Given the description of an element on the screen output the (x, y) to click on. 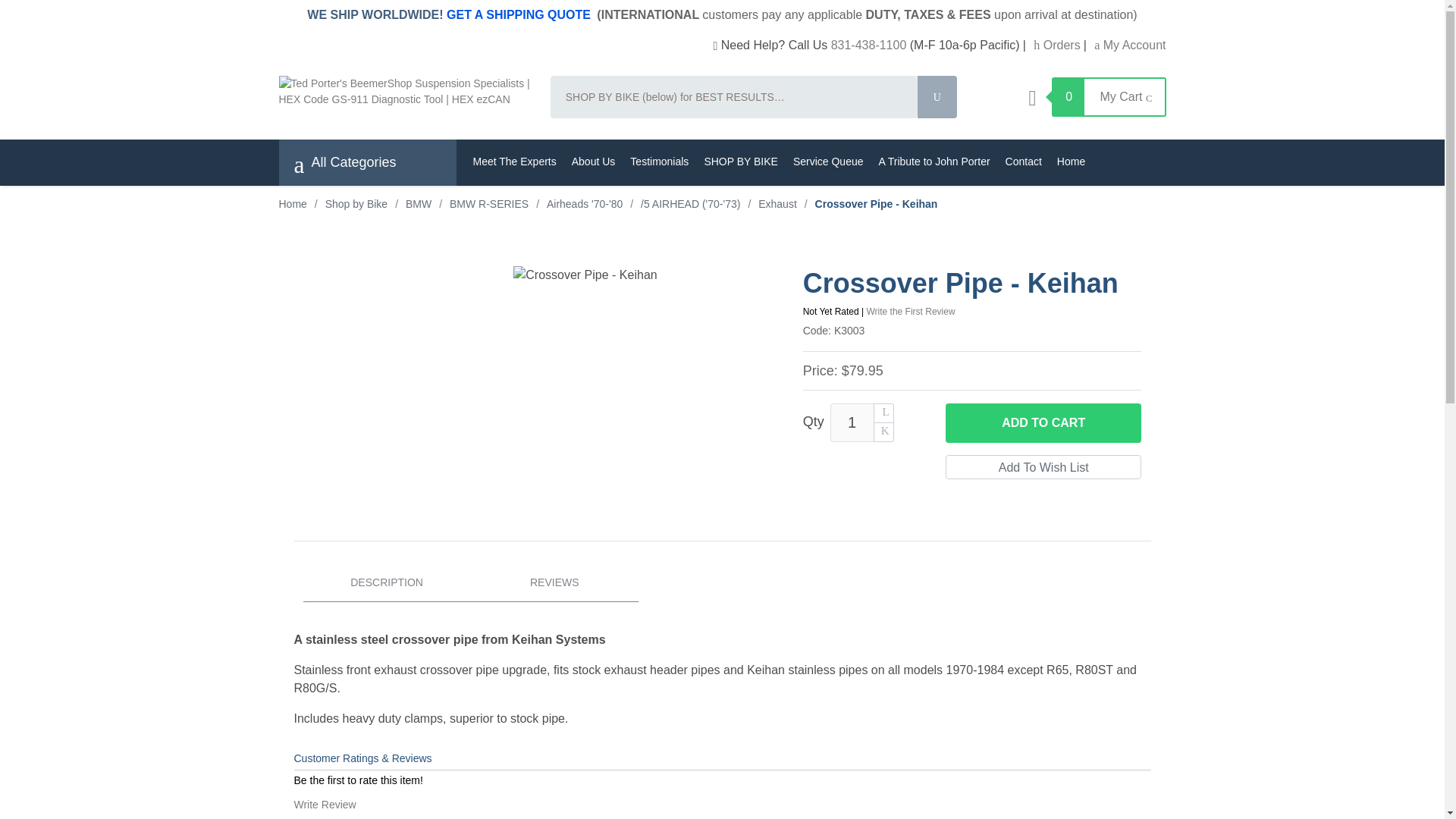
BMW R-SERIES (488, 203)
Service Queue (828, 162)
Add To Wish List (1042, 467)
Orders (1056, 44)
831-438-1100 (869, 44)
All Categories (345, 162)
Search (936, 96)
GET A SHIPPING QUOTE (518, 14)
A Tribute to John Porter (933, 162)
My Account (1130, 44)
Airheads '70-'80 (585, 203)
Cart (1031, 97)
Meet The Experts (514, 162)
BMW (418, 203)
1 (852, 422)
